Given the description of an element on the screen output the (x, y) to click on. 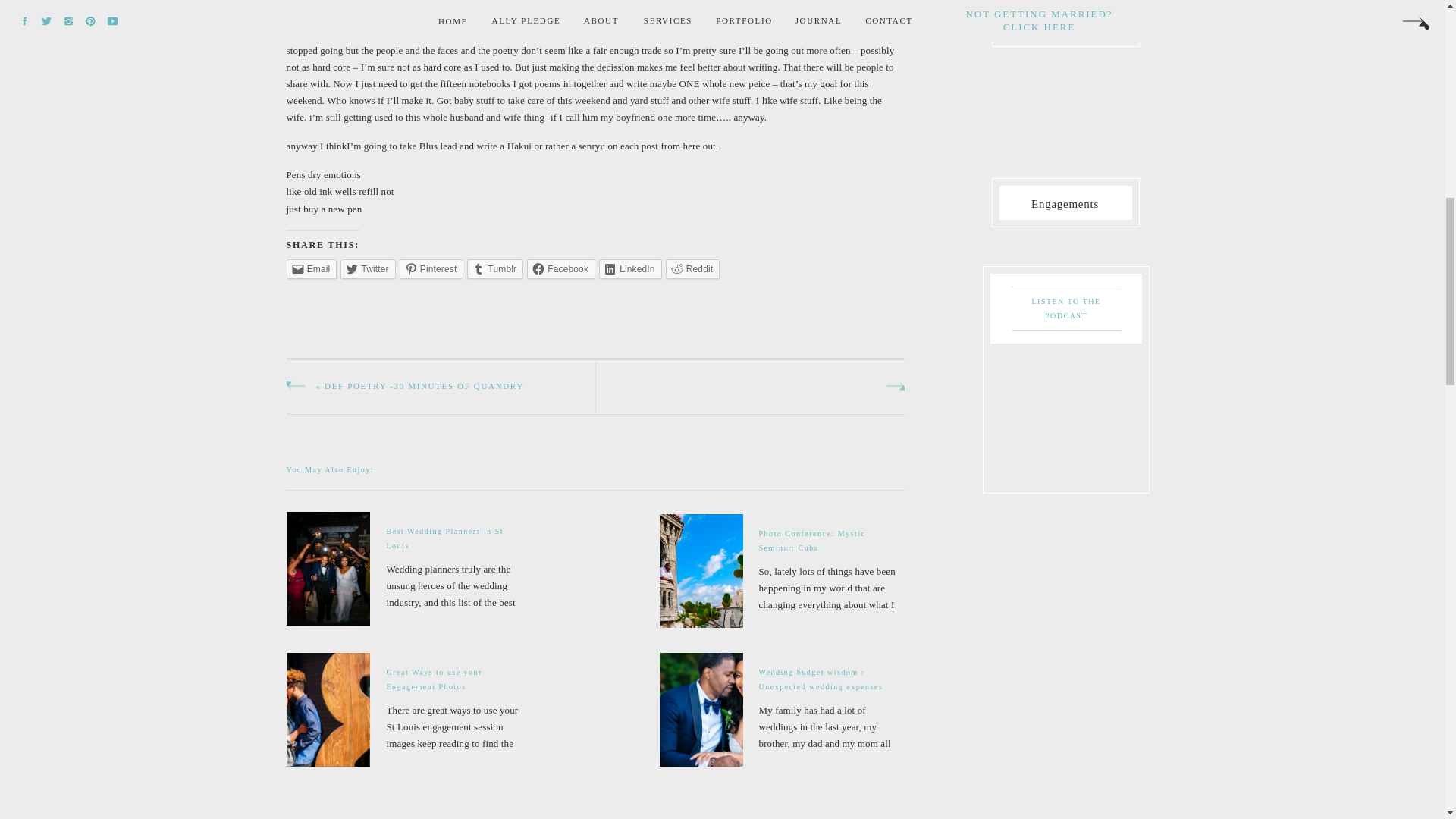
Photo Conference: Mystic Seminar: Cuba (782, 569)
Wedding budget wisdom : Unexpected wedding expenses (782, 710)
Click to share on Facebook (561, 269)
Click to share on LinkedIn (630, 269)
Best Wedding Planners in St Louis (408, 568)
Great Ways to use your Engagement Photos (409, 709)
Click to share on Twitter (367, 269)
Click to share on Pinterest (431, 269)
Click to share on Tumblr (494, 269)
Click to email a link to a friend (311, 269)
